Given the description of an element on the screen output the (x, y) to click on. 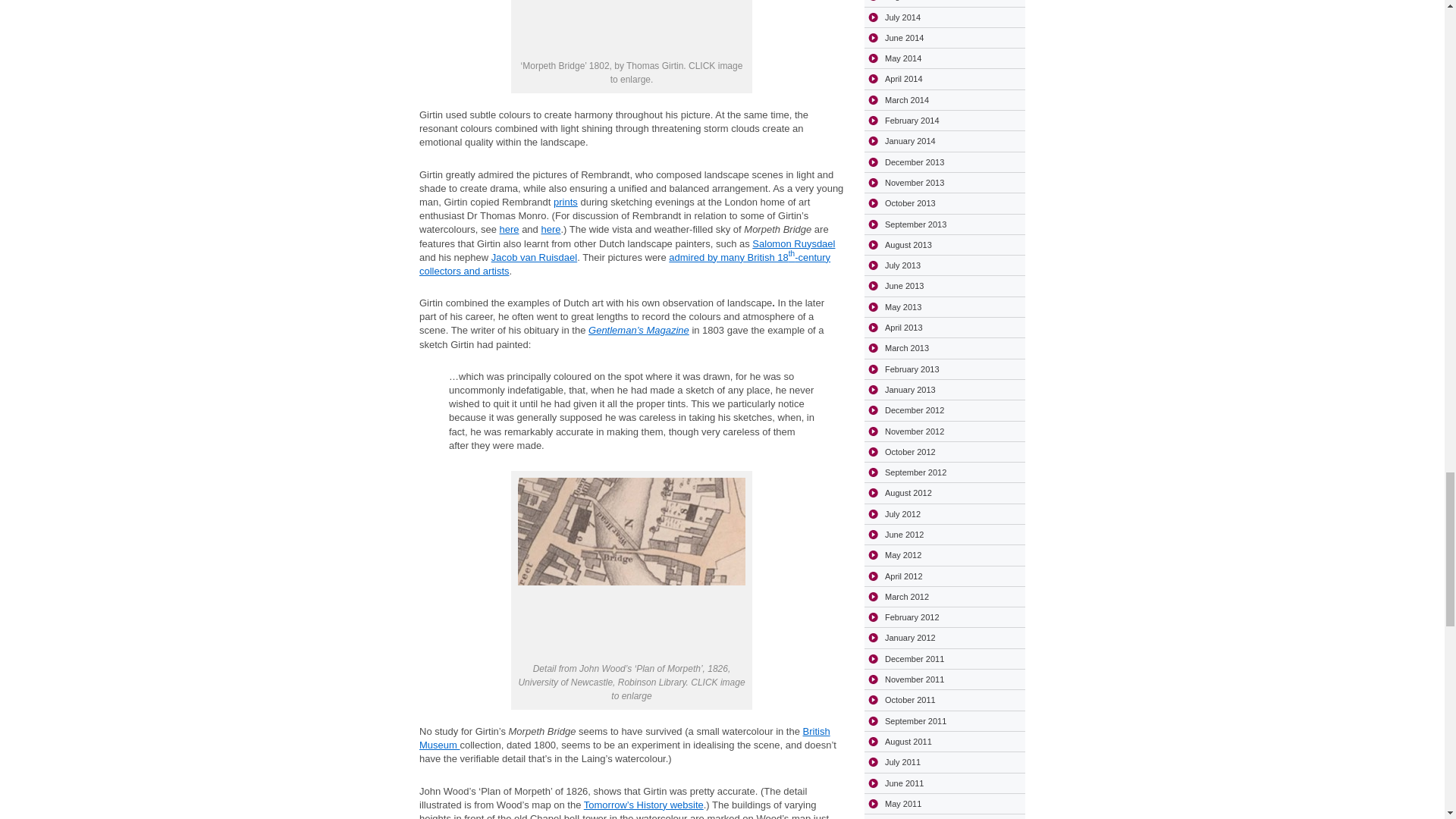
prints (565, 202)
here (550, 229)
Salomon Ruysdael (793, 243)
admired by many British 18th-century collectors and artists (624, 263)
British Museum (624, 738)
Jacob van Ruisdael (534, 256)
here (508, 229)
